Given the description of an element on the screen output the (x, y) to click on. 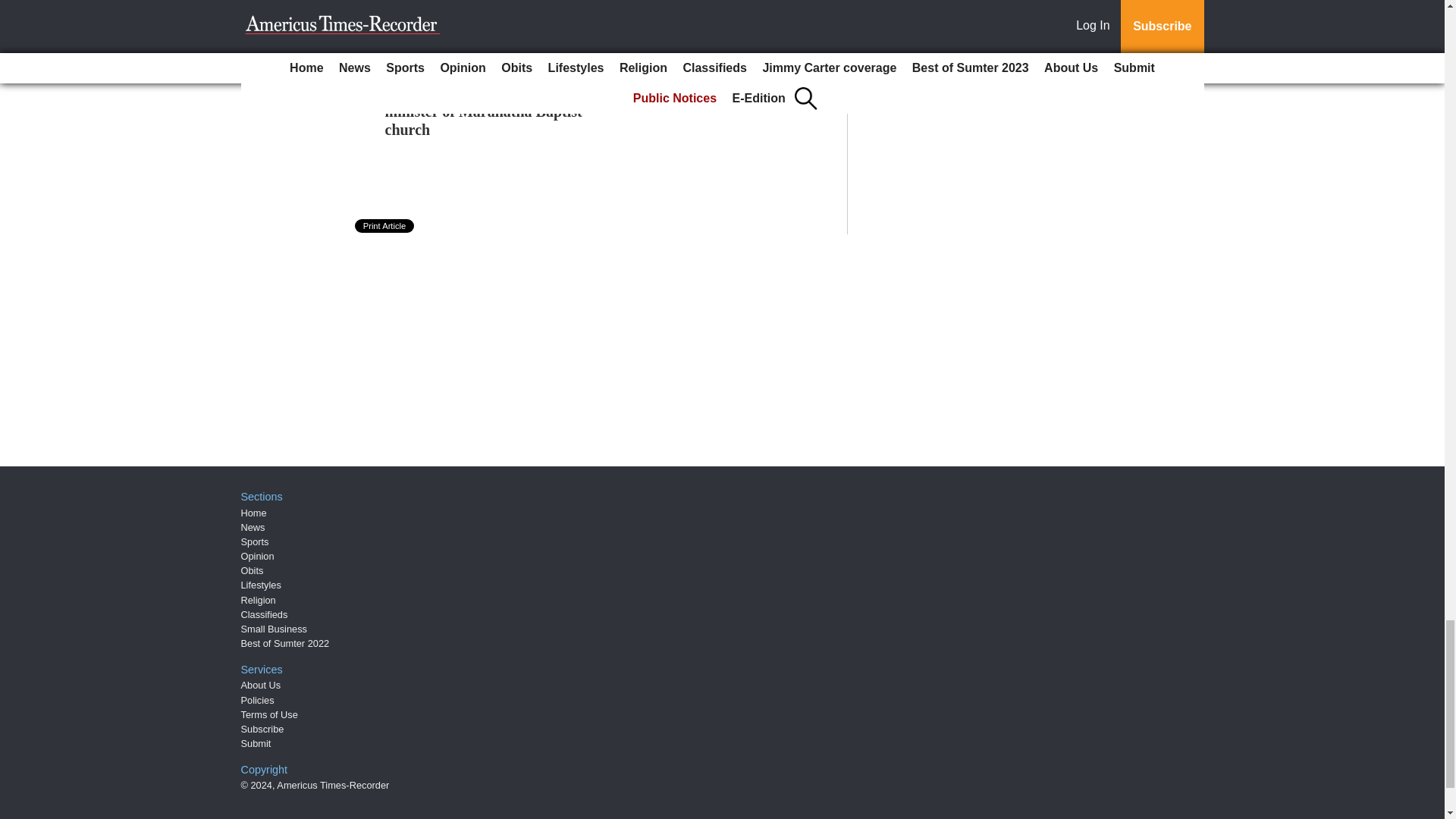
Print Article (384, 225)
Home (253, 512)
Obits (252, 570)
Best of Sumter 2022 (285, 643)
Small Business (274, 628)
Classifieds (264, 614)
Sports (255, 541)
News (252, 527)
Opinion (258, 555)
Religion (258, 600)
Lifestyles (261, 584)
